Given the description of an element on the screen output the (x, y) to click on. 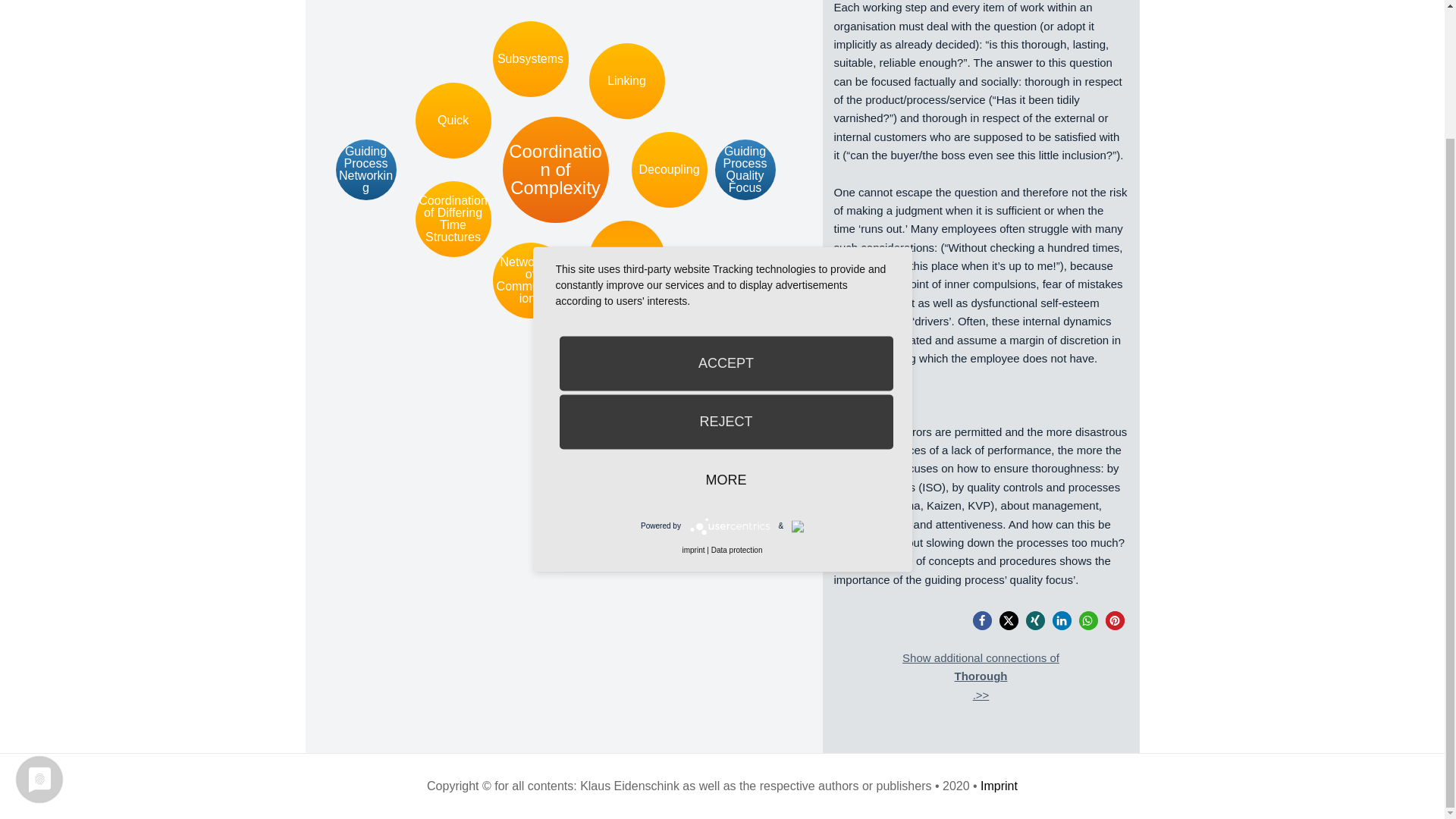
Share on Facebook (981, 619)
MORE (726, 323)
Data protection (736, 394)
Share on XING (1034, 619)
Coordination of Complexity (555, 169)
Guiding Process Networking (365, 169)
Imprint (998, 786)
REJECT (726, 265)
ACCEPT (726, 206)
